Given the description of an element on the screen output the (x, y) to click on. 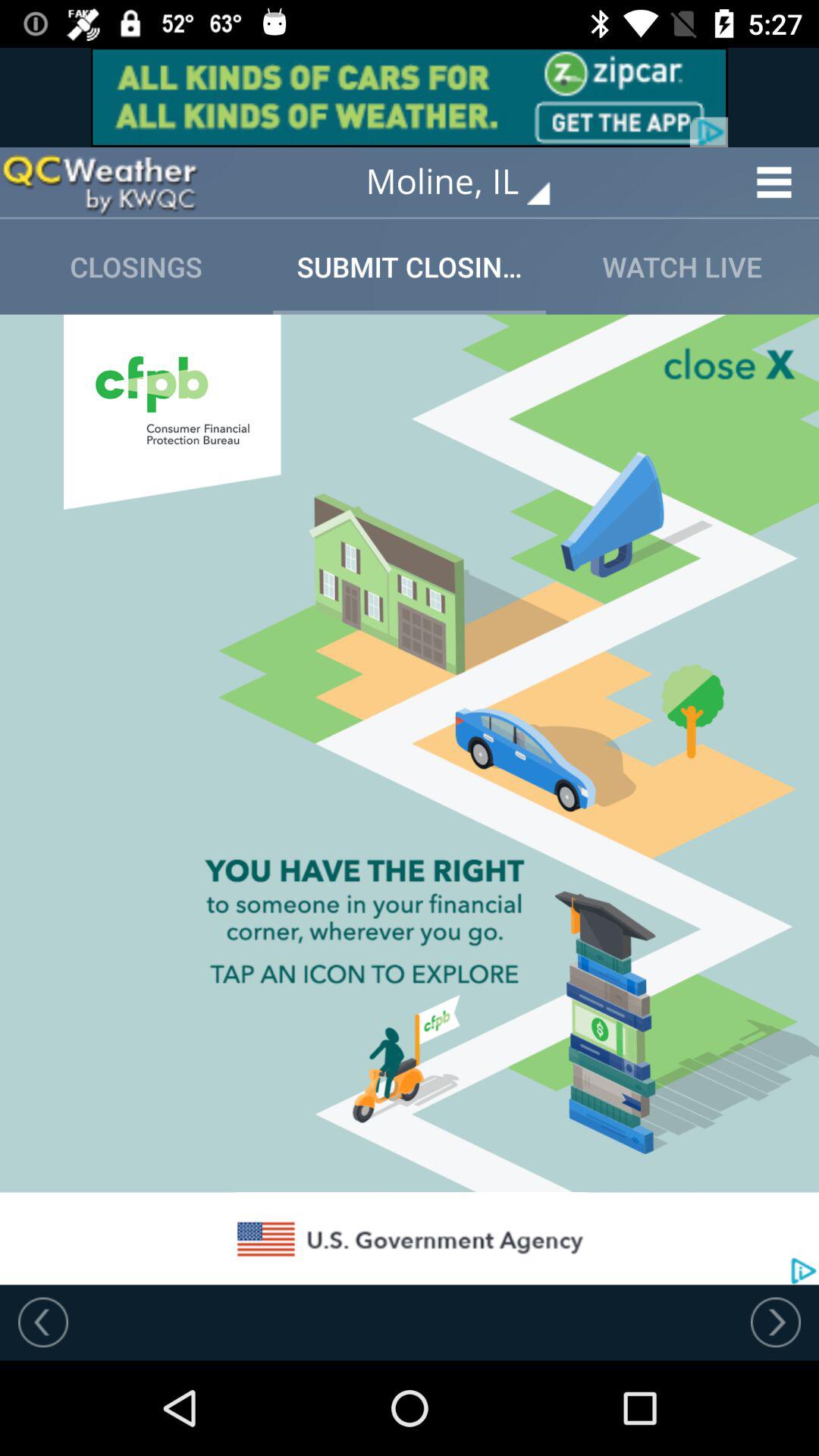
click for weather (99, 182)
